Given the description of an element on the screen output the (x, y) to click on. 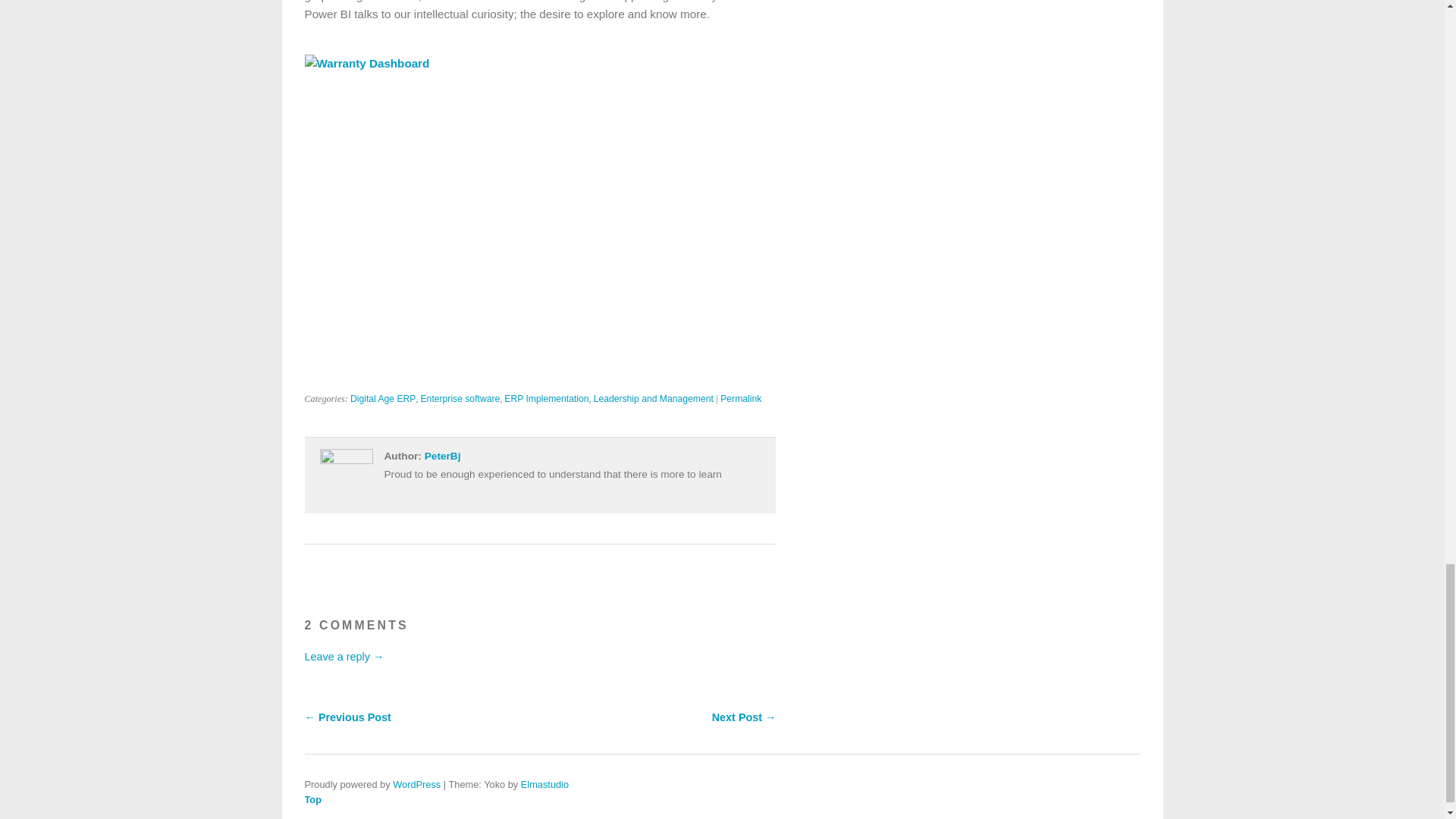
PeterBj (443, 455)
Enterprise software (460, 398)
PeterBj (443, 455)
Digital Age ERP (383, 398)
ERP Implementation (545, 398)
Permalink (740, 398)
Leadership and Management (653, 398)
